Given the description of an element on the screen output the (x, y) to click on. 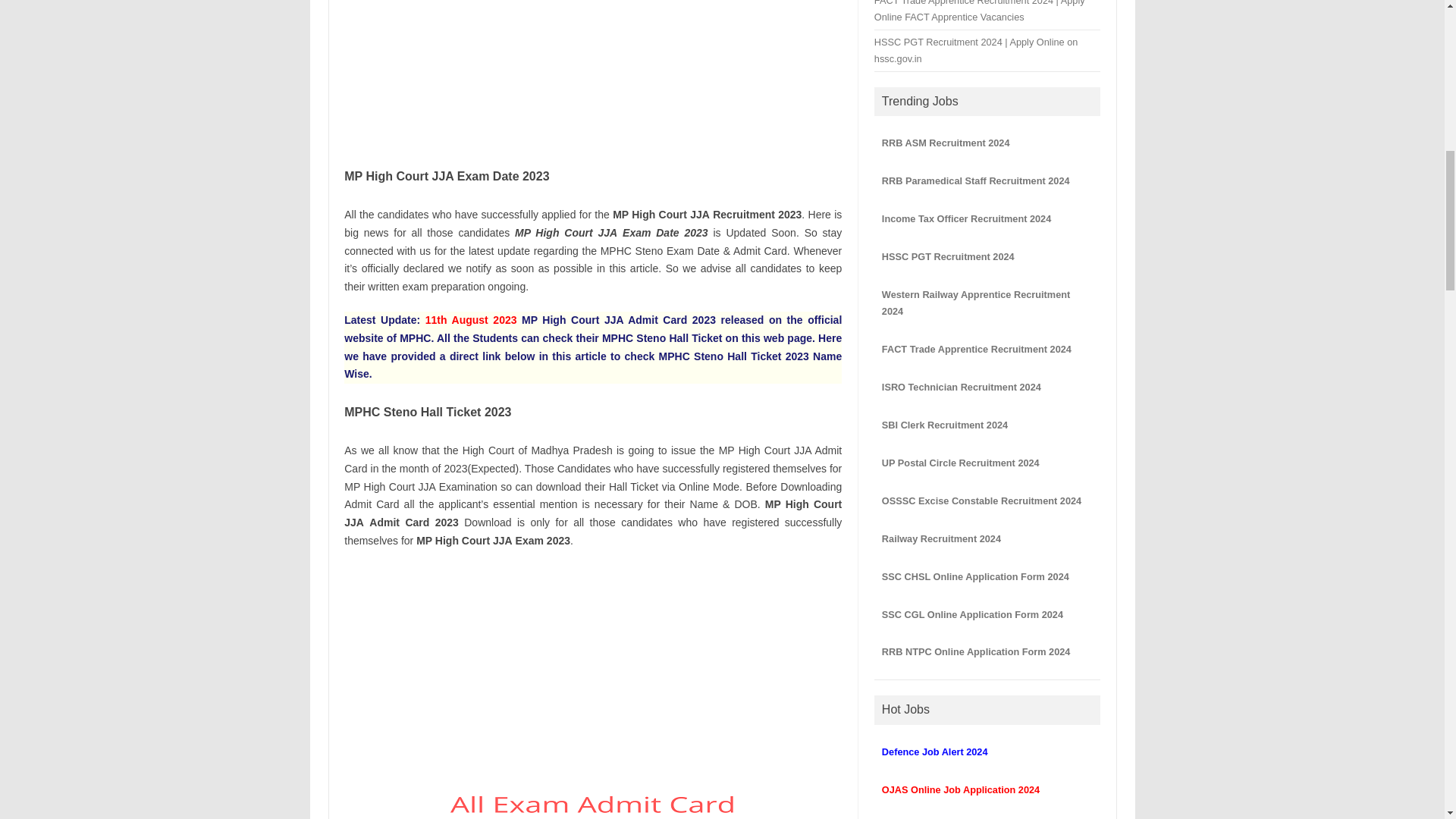
ISRO Technician Recruitment 2024 (961, 387)
FACT Trade Apprentice Recruitment 2024 (976, 348)
RRB Paramedical Staff Recruitment 2024 (976, 180)
Advertisement (592, 671)
SBI Clerk Recruitment 2024 (944, 424)
Income Tax Officer Recruitment 2024 (966, 218)
Advertisement (592, 74)
RRB ASM Recruitment 2024 (946, 142)
HSSC PGT Recruitment 2024 (948, 256)
Western Railway Apprentice Recruitment 2024 (976, 302)
